Given the description of an element on the screen output the (x, y) to click on. 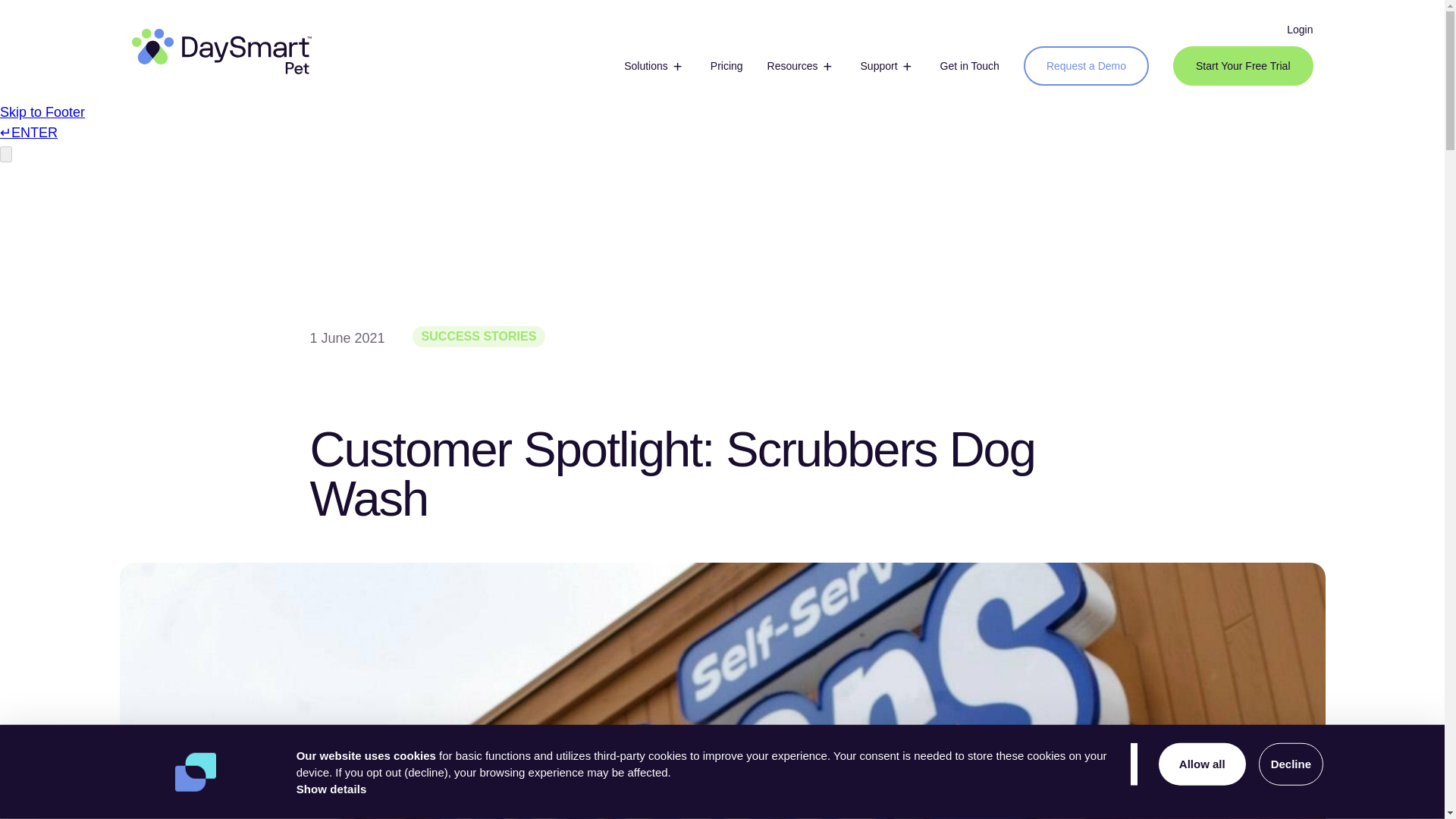
Show details (331, 789)
